Given the description of an element on the screen output the (x, y) to click on. 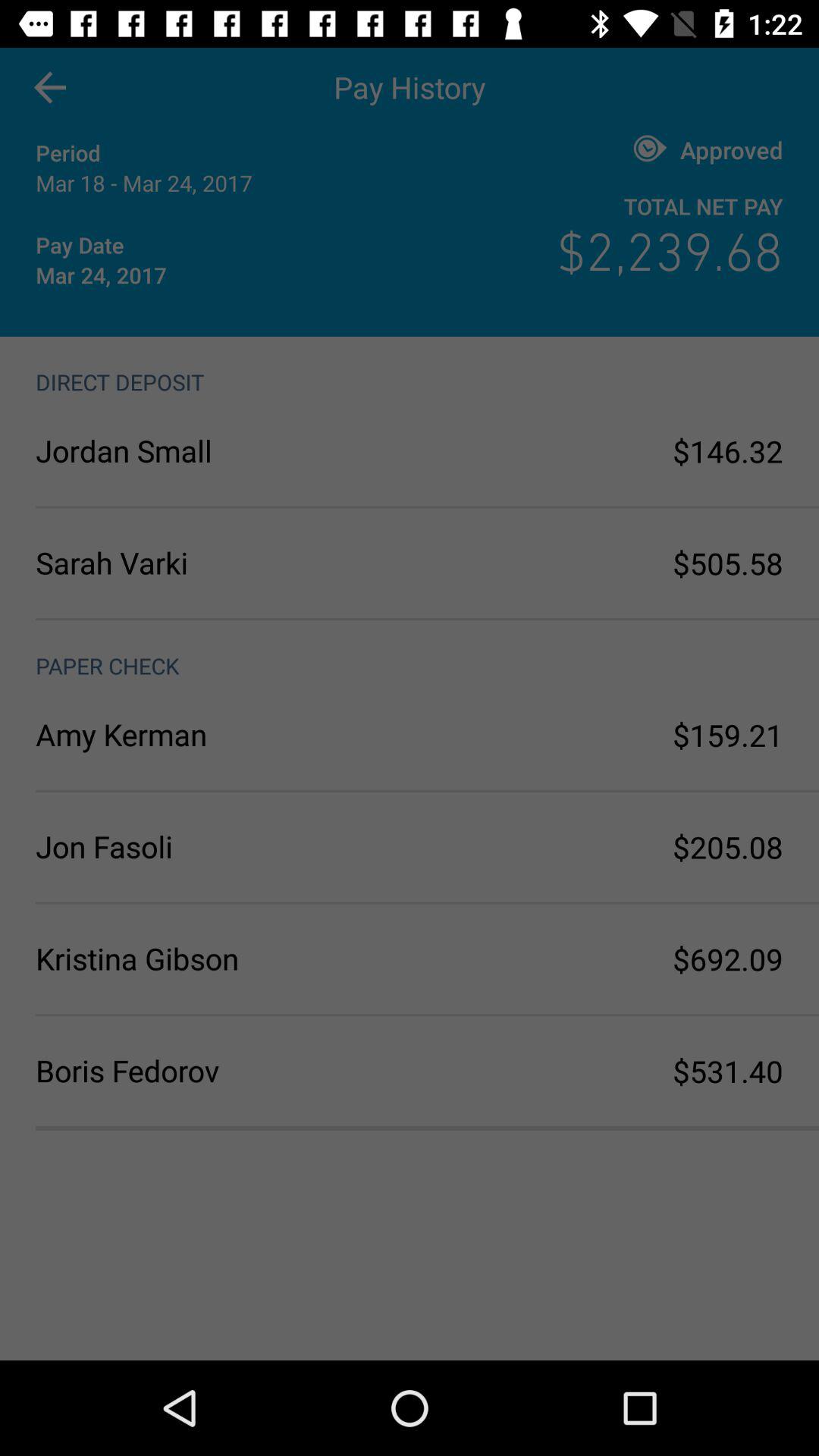
turn off the app next to $146.32 app (222, 450)
